Given the description of an element on the screen output the (x, y) to click on. 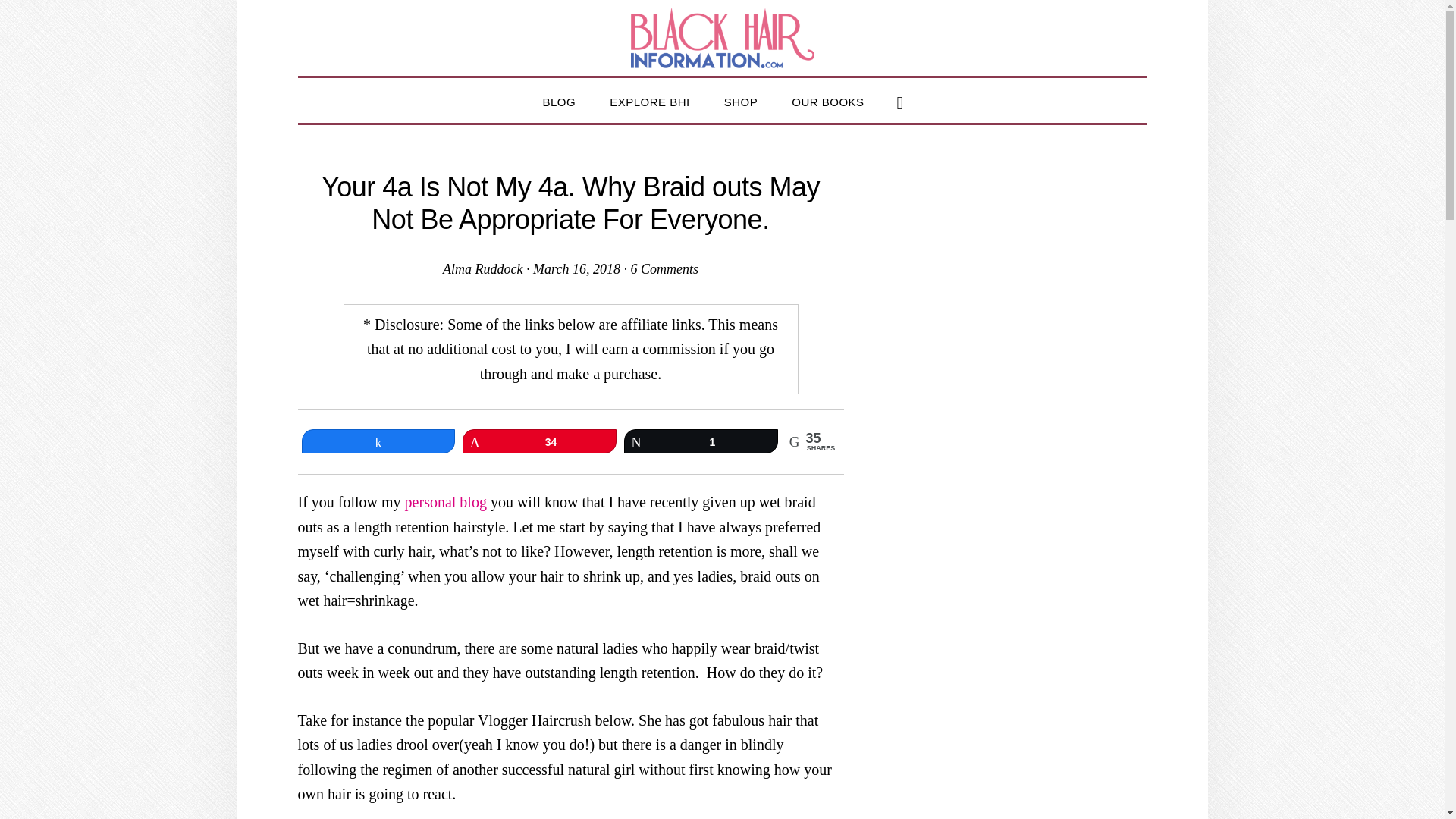
BLOG (559, 99)
BLACK HAIR INFORMATION (721, 37)
SHOP (741, 99)
EXPLORE BHI (649, 99)
